Given the description of an element on the screen output the (x, y) to click on. 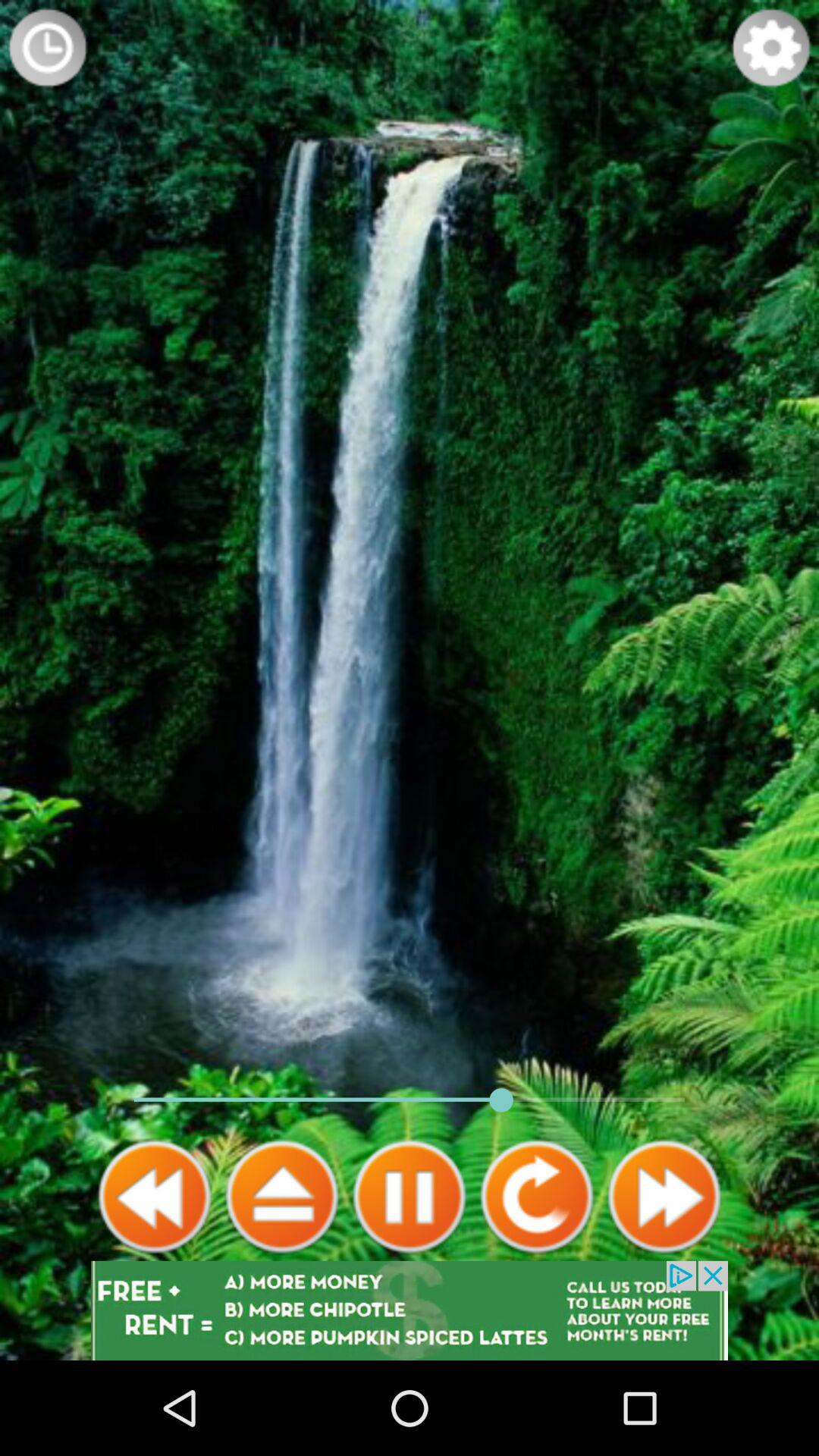
replay (536, 1196)
